Given the description of an element on the screen output the (x, y) to click on. 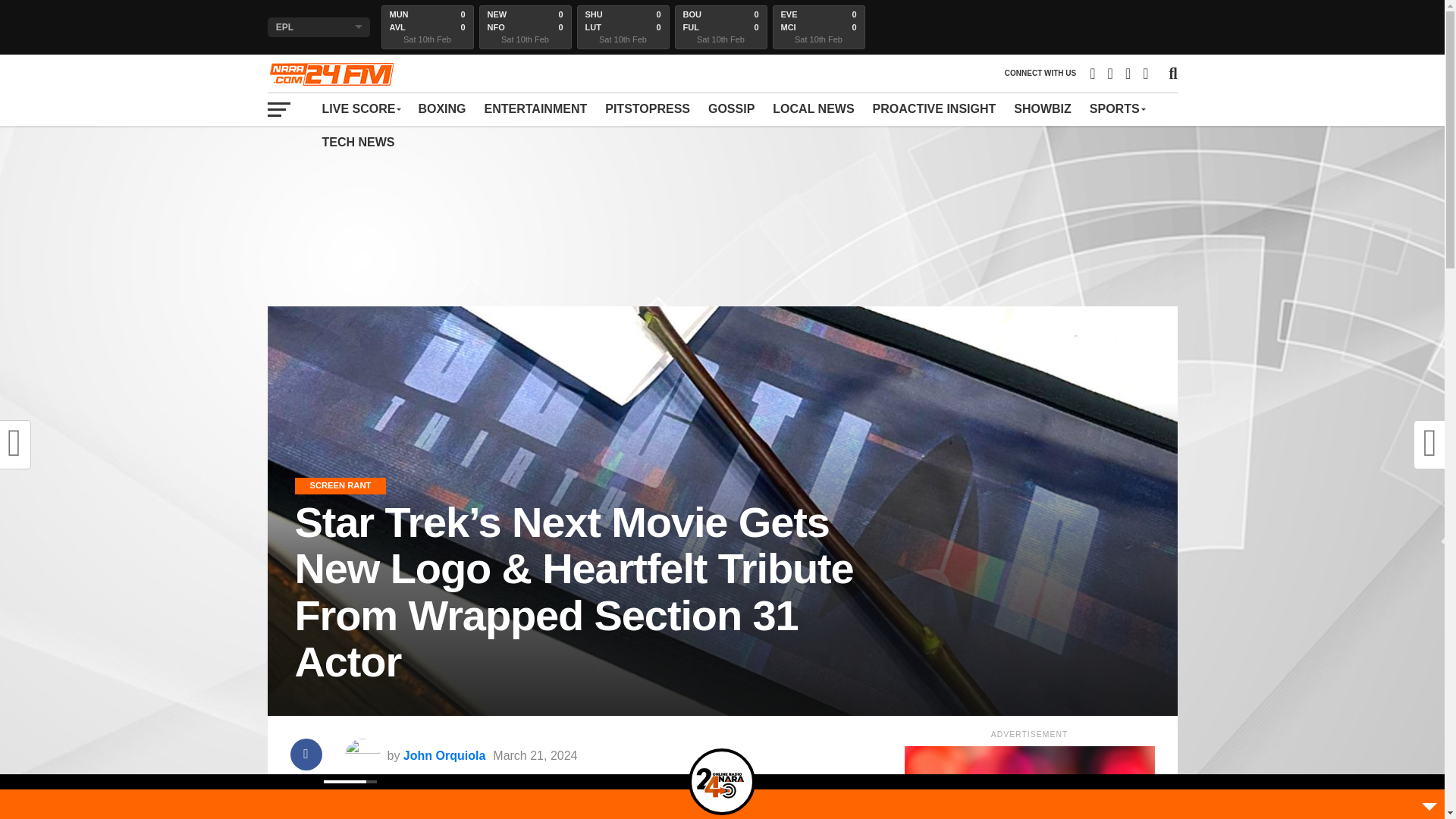
Twitter (1210, 781)
ENTERTAINMENT (536, 109)
BOXING (441, 109)
Posts by John Orquiola (443, 755)
LIVE SCORE (361, 109)
